Given the description of an element on the screen output the (x, y) to click on. 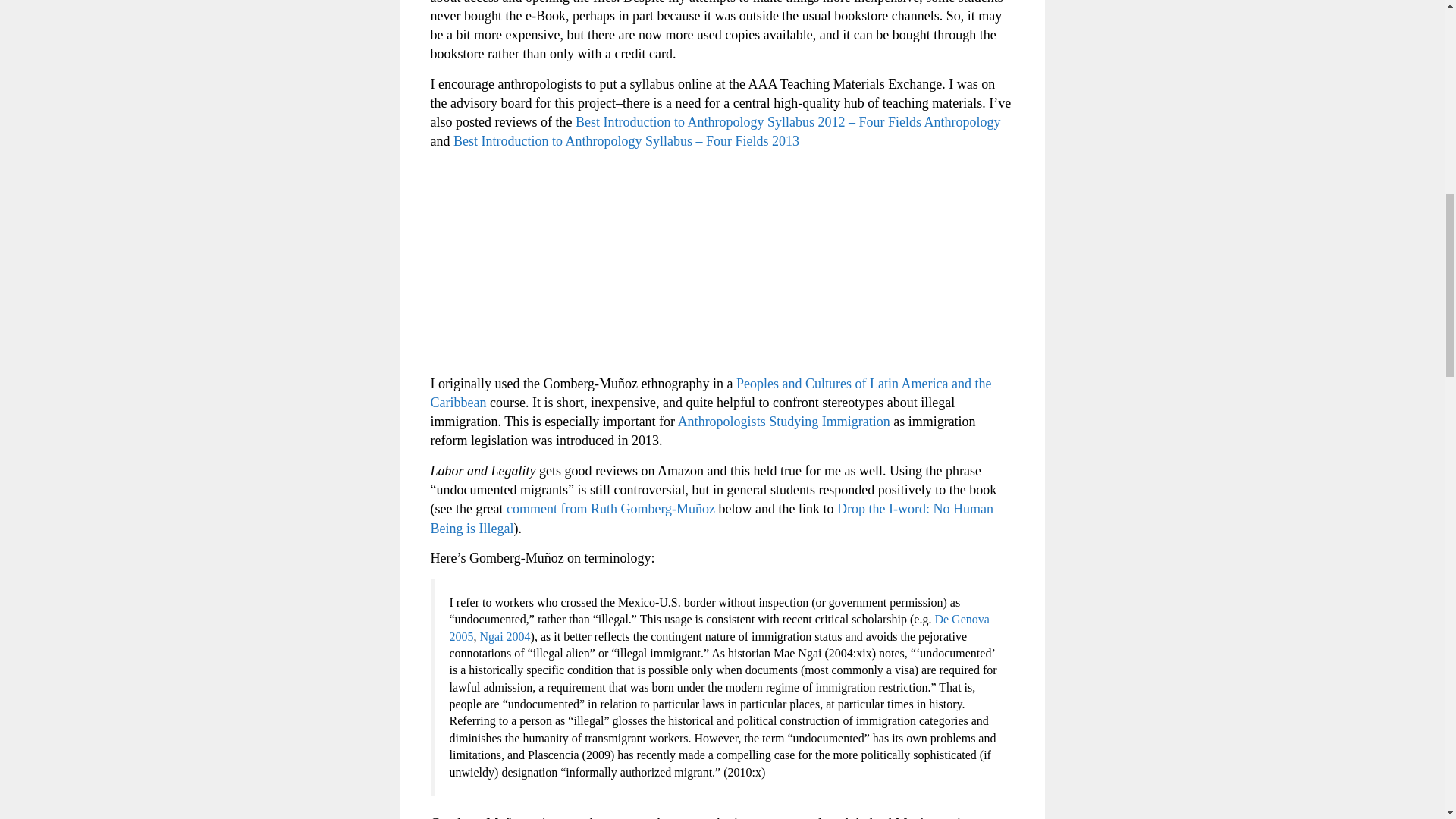
Scroll back to top (1406, 720)
Anthropologists Studying Immigration (783, 421)
Drop the I-word: No Human Being is Illegal (712, 518)
Drop the I-word: No Human Being is Illegal (712, 518)
De Genova 2005 (718, 627)
Peoples and Cultures of Latin America and the Caribbean (710, 392)
Advertisement (722, 268)
Ngai 2004 (504, 635)
